Given the description of an element on the screen output the (x, y) to click on. 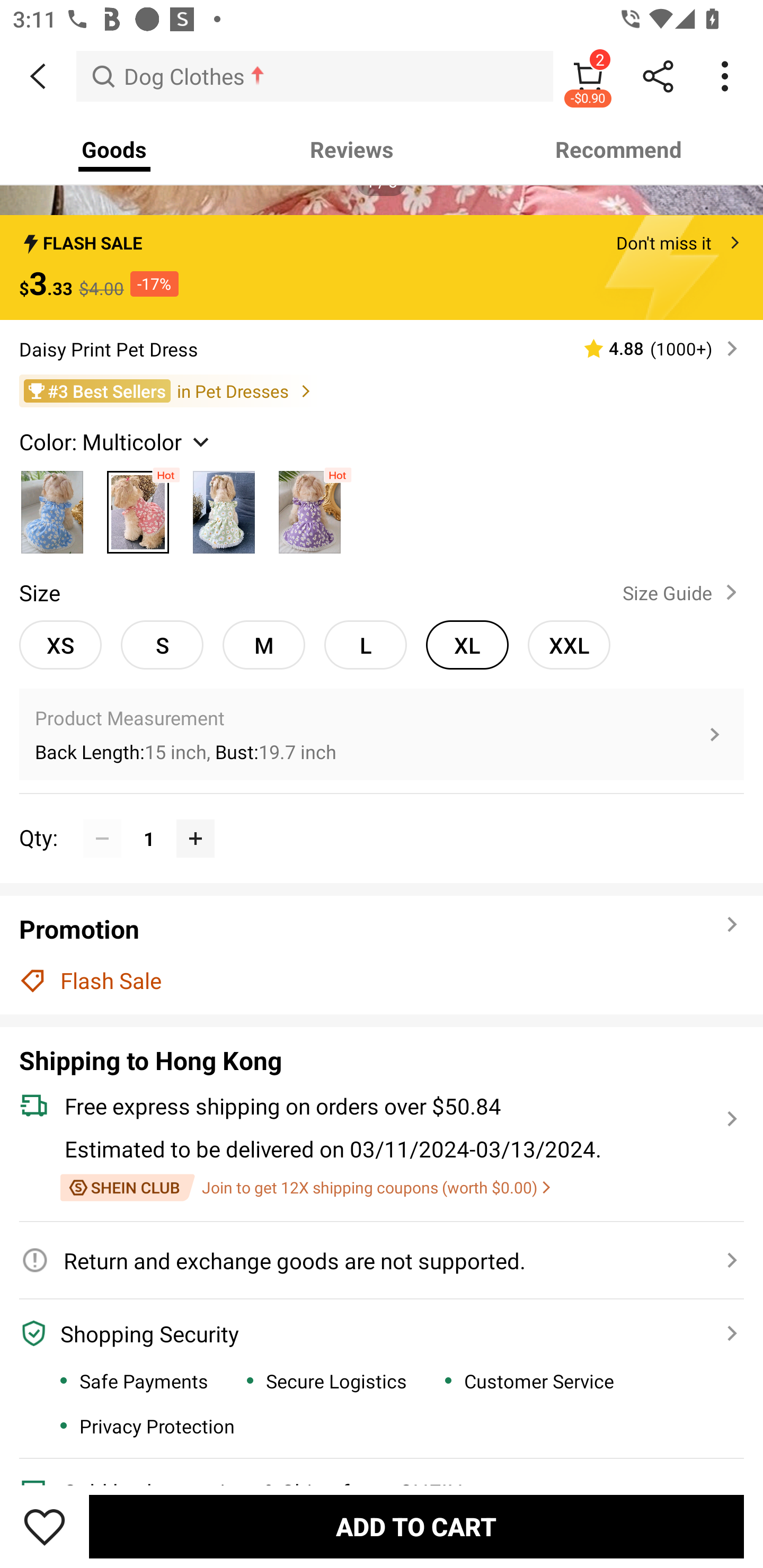
BACK (38, 75)
2 -$0.90 (588, 75)
Dog Clothes (314, 75)
Goods (114, 149)
Reviews (351, 149)
Recommend (618, 149)
FLASH SALE Don't miss it $3.33 $4.00 -17% (381, 266)
FLASH SALE Don't miss it (381, 237)
4.88 (1000‎+) (653, 347)
#3 Best Sellers in Pet Dresses (381, 390)
Color: Multicolor (116, 441)
Blue (52, 507)
Multicolor (138, 507)
Multicolor (224, 507)
Purple (309, 507)
Size (39, 592)
Size Guide (682, 592)
XS XSunselected option (60, 644)
S Sunselected option (161, 644)
M Munselected option (263, 644)
L Lunselected option (365, 644)
XL XLselected option (466, 644)
XXL XXLunselected option (568, 644)
Qty: 1 (381, 818)
Promotion Flash Sale (381, 954)
Join to get 12X shipping coupons (worth $0.00) (305, 1187)
Return and exchange goods are not supported. (370, 1260)
ADD TO CART (416, 1526)
Save (44, 1526)
